Given the description of an element on the screen output the (x, y) to click on. 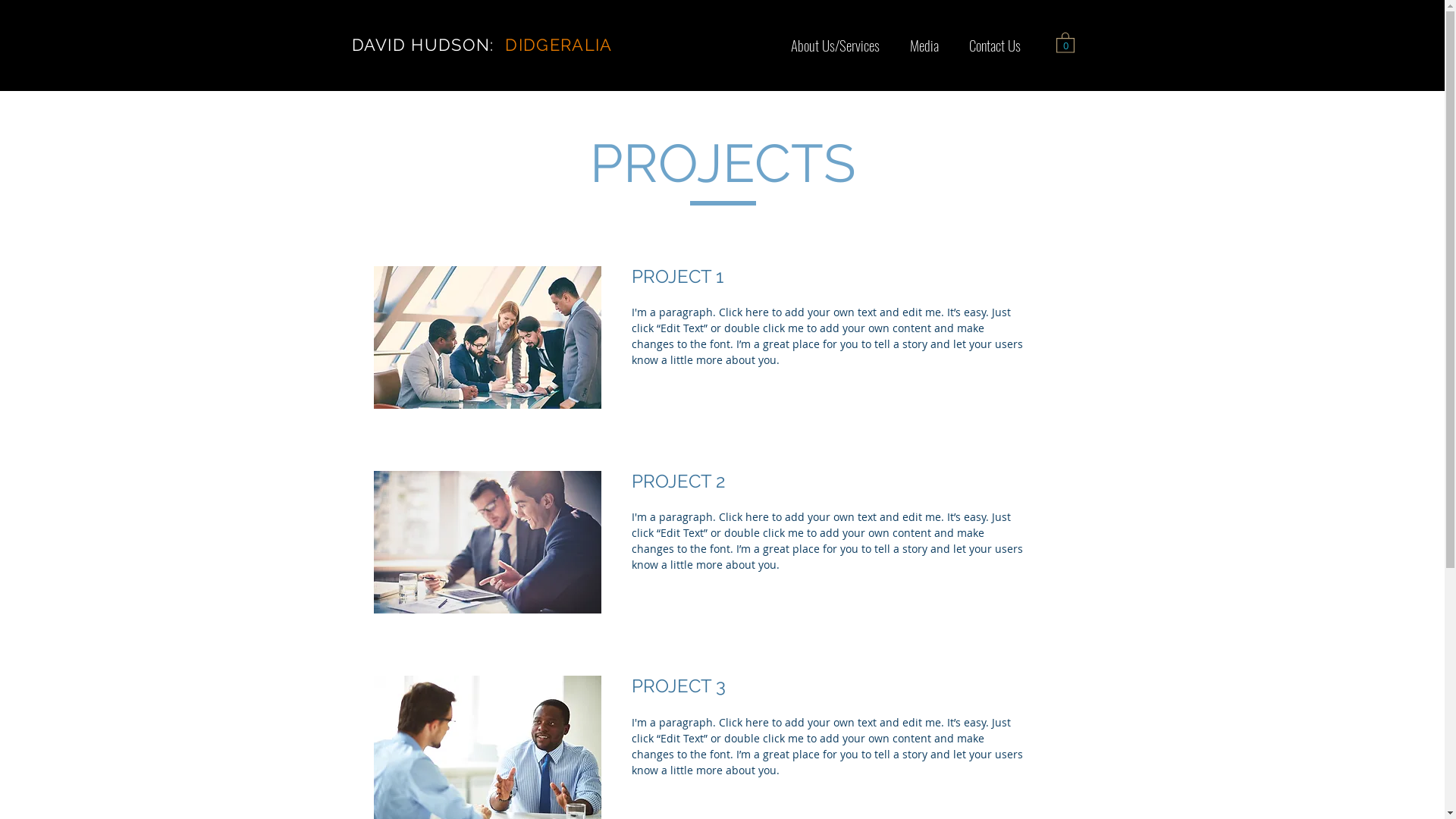
Media Element type: text (923, 43)
DAVID HUDSON:  DIDGERALIA Element type: text (481, 44)
Contact Us Element type: text (994, 43)
About Us/Services Element type: text (834, 43)
0 Element type: text (1064, 42)
